Given the description of an element on the screen output the (x, y) to click on. 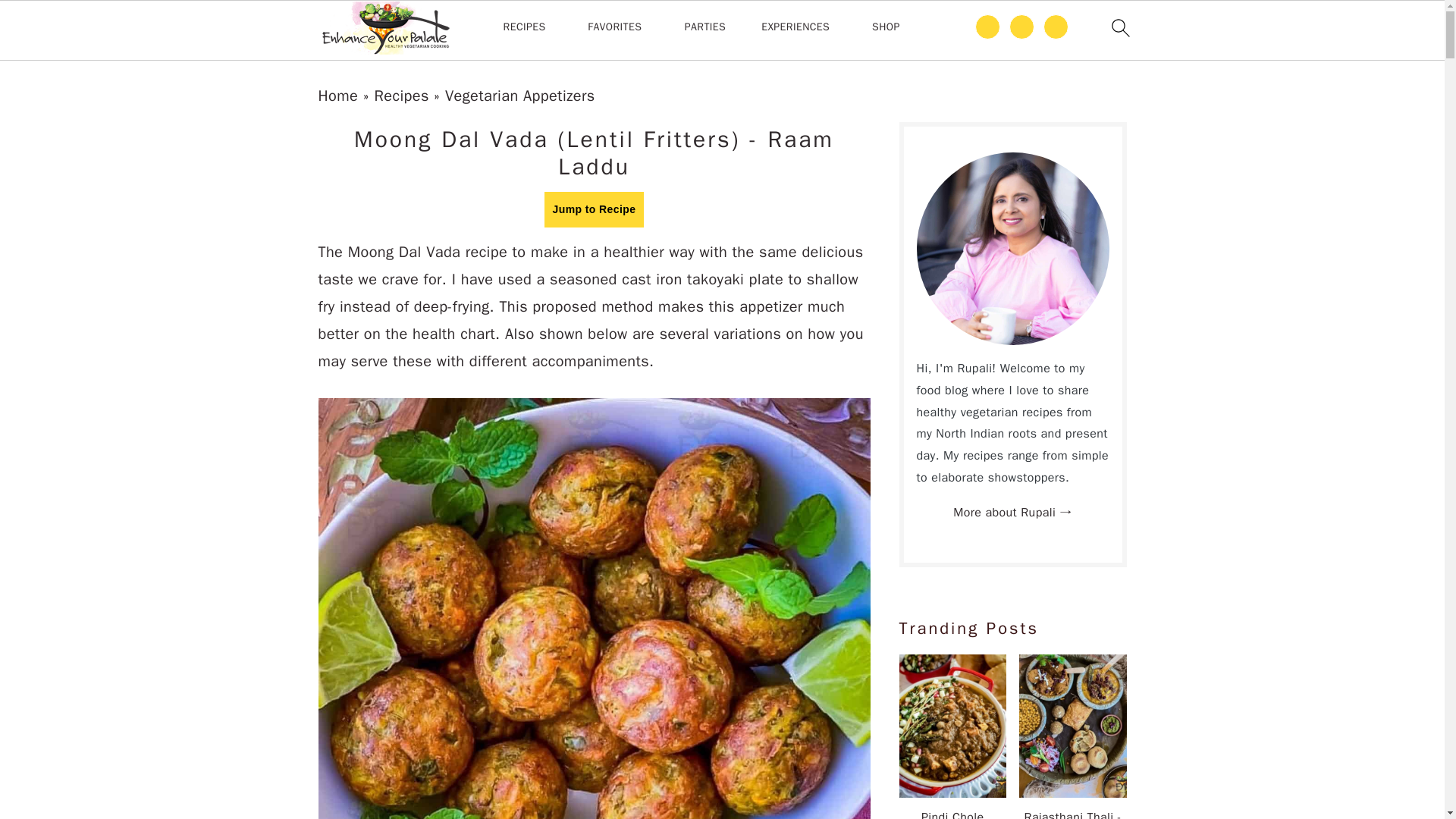
Vegetarian Appetizers (520, 95)
Home (338, 95)
EXPERIENCES (795, 27)
Jump to Recipe (594, 209)
PARTIES (704, 27)
FAVORITES (615, 27)
SHOP (885, 27)
RECIPES (524, 27)
Recipes (401, 95)
SEARCH ICON (1119, 27)
